Given the description of an element on the screen output the (x, y) to click on. 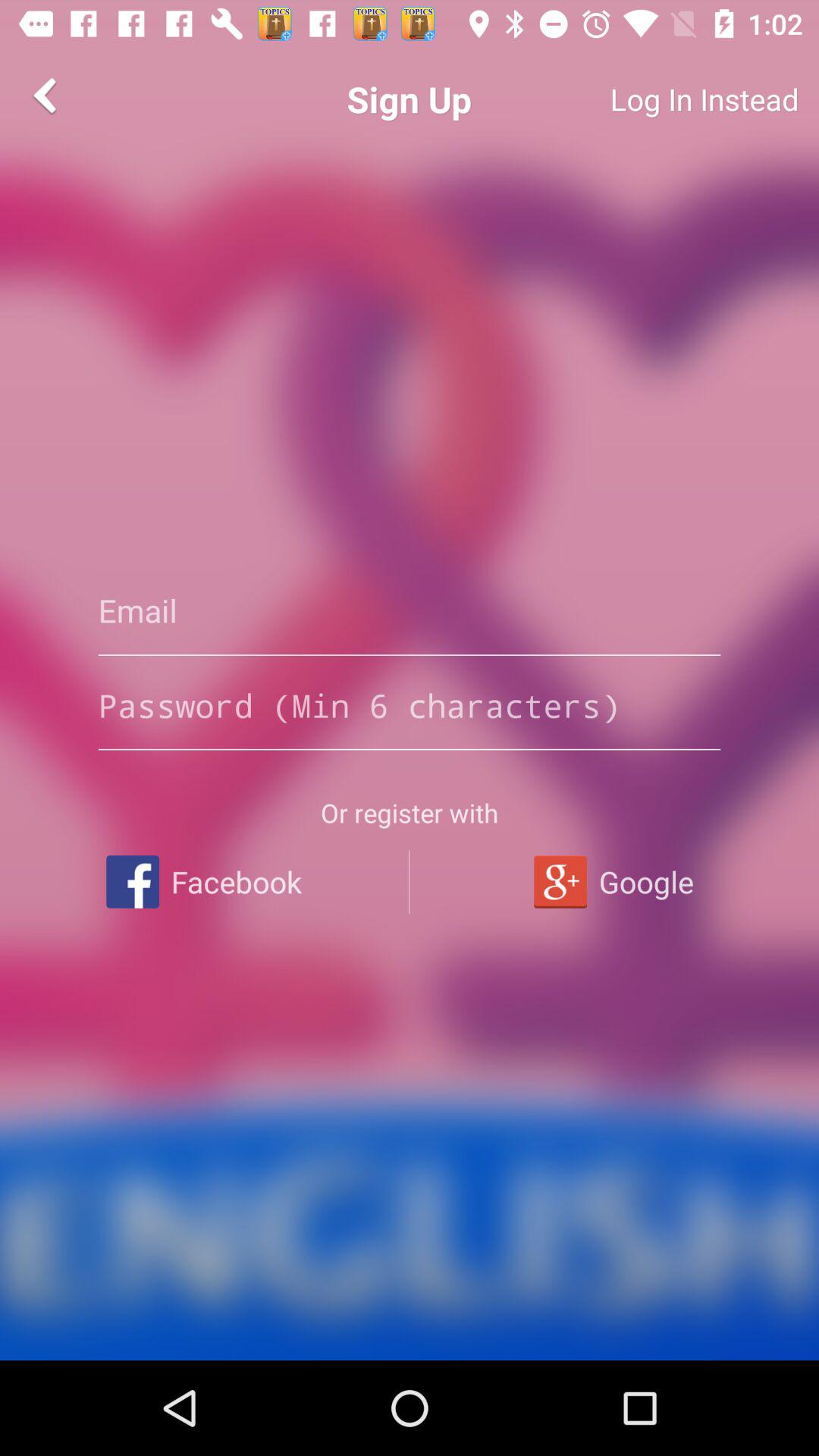
type password (409, 705)
